Given the description of an element on the screen output the (x, y) to click on. 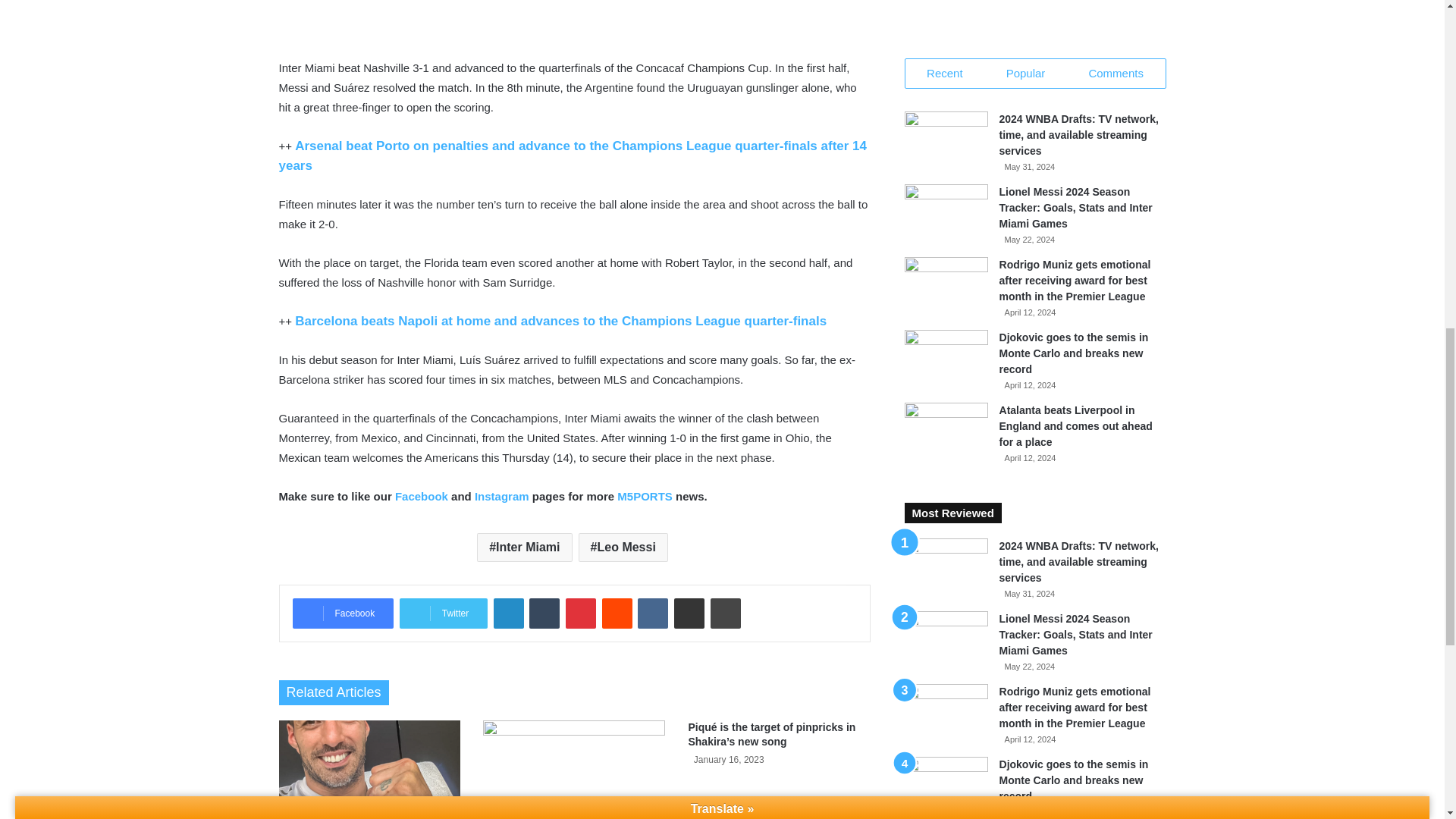
LinkedIn (508, 613)
VKontakte (652, 613)
Facebook (343, 613)
Pinterest (580, 613)
Twitter (442, 613)
Tumblr (544, 613)
Share via Email (689, 613)
Reddit (616, 613)
